Given the description of an element on the screen output the (x, y) to click on. 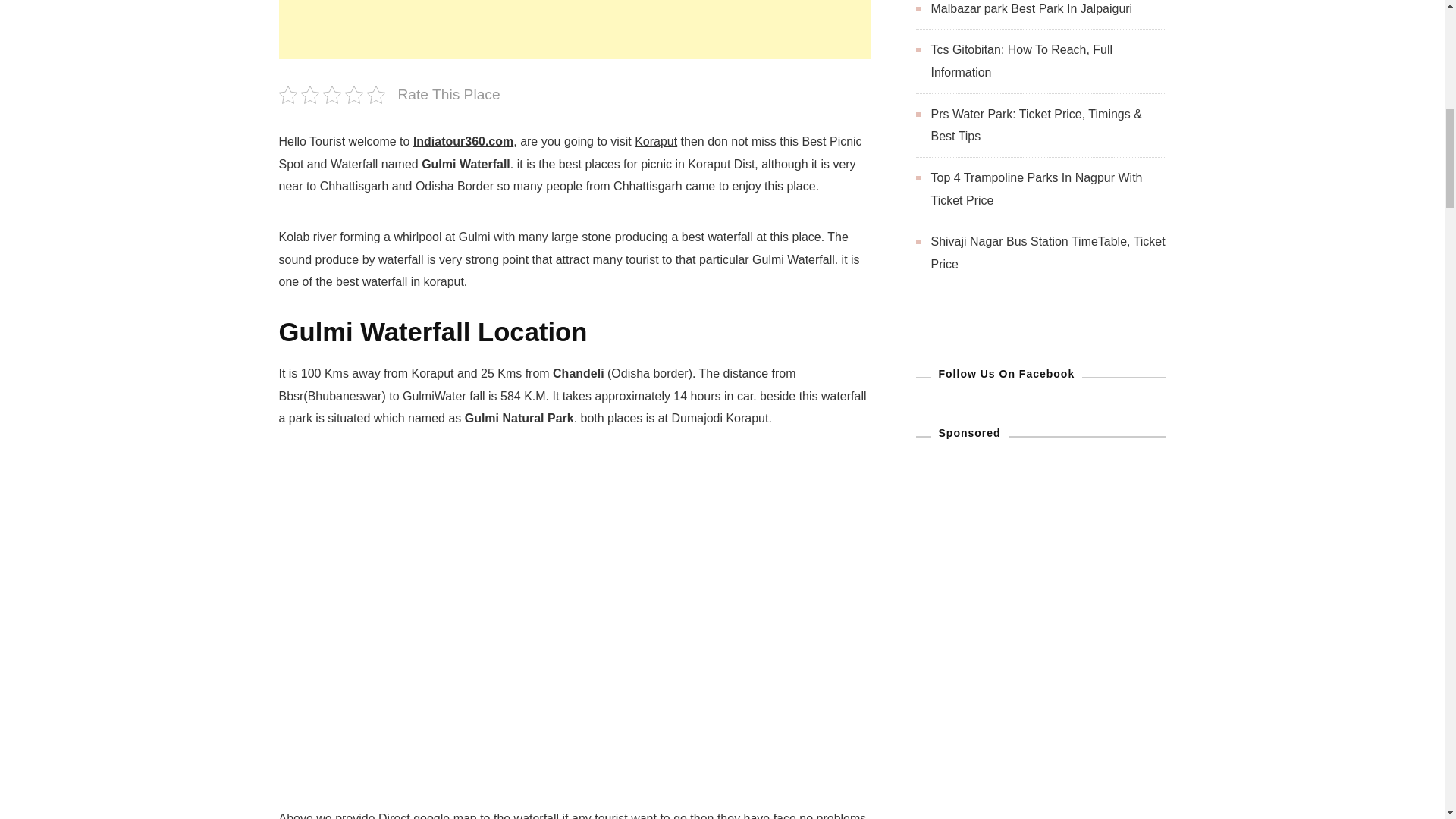
Indiatour360.com (463, 141)
Koraput (655, 141)
Advertisement (574, 29)
